Given the description of an element on the screen output the (x, y) to click on. 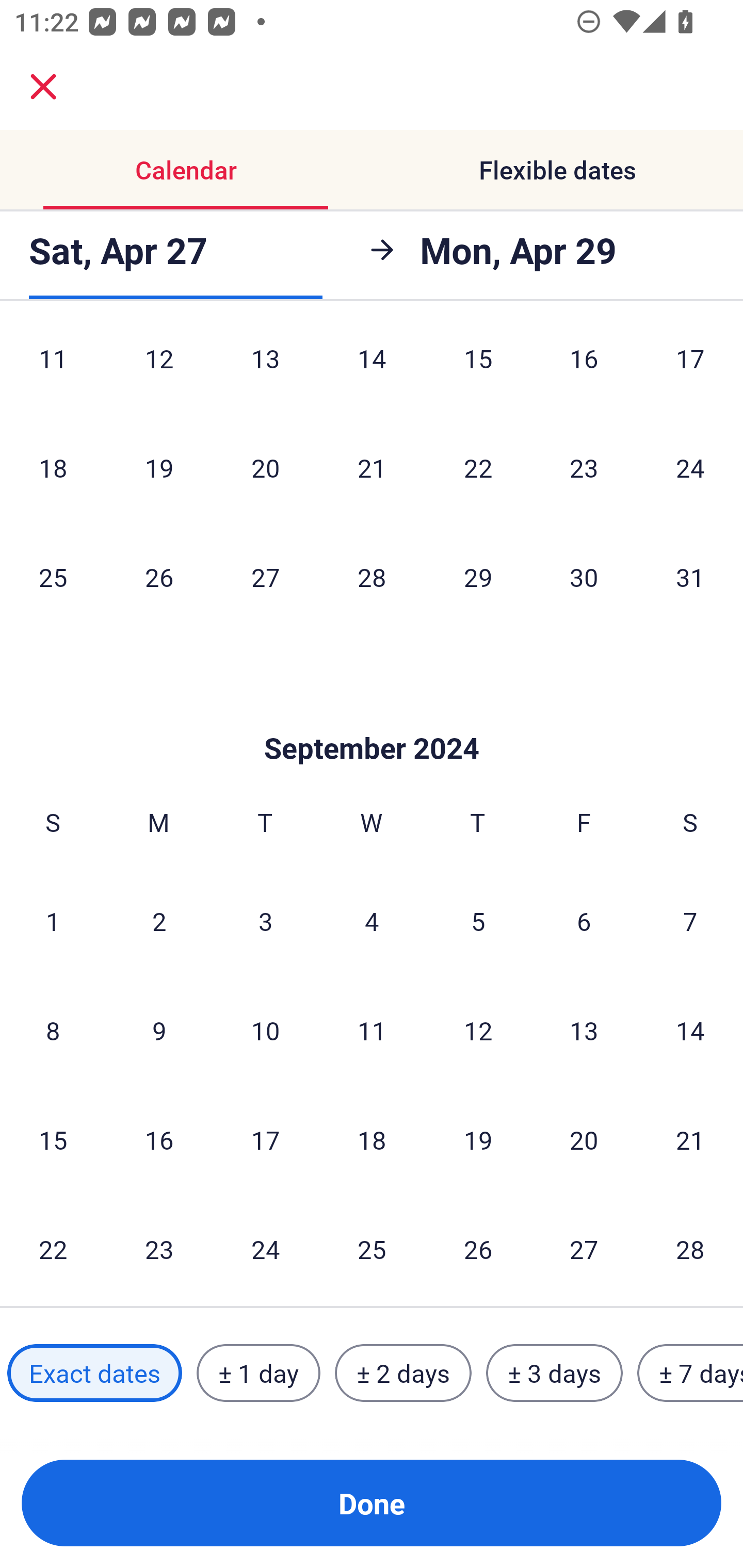
close. (43, 86)
Flexible dates (557, 170)
11 Sunday, August 11, 2024 (53, 370)
12 Monday, August 12, 2024 (159, 370)
13 Tuesday, August 13, 2024 (265, 370)
14 Wednesday, August 14, 2024 (371, 370)
15 Thursday, August 15, 2024 (477, 370)
16 Friday, August 16, 2024 (584, 370)
17 Saturday, August 17, 2024 (690, 370)
18 Sunday, August 18, 2024 (53, 466)
19 Monday, August 19, 2024 (159, 466)
20 Tuesday, August 20, 2024 (265, 466)
21 Wednesday, August 21, 2024 (371, 466)
22 Thursday, August 22, 2024 (477, 466)
23 Friday, August 23, 2024 (584, 466)
24 Saturday, August 24, 2024 (690, 466)
25 Sunday, August 25, 2024 (53, 576)
26 Monday, August 26, 2024 (159, 576)
27 Tuesday, August 27, 2024 (265, 576)
28 Wednesday, August 28, 2024 (371, 576)
29 Thursday, August 29, 2024 (477, 576)
30 Friday, August 30, 2024 (584, 576)
31 Saturday, August 31, 2024 (690, 576)
Skip to Done (371, 717)
1 Sunday, September 1, 2024 (53, 920)
2 Monday, September 2, 2024 (159, 920)
3 Tuesday, September 3, 2024 (265, 920)
4 Wednesday, September 4, 2024 (371, 920)
5 Thursday, September 5, 2024 (477, 920)
6 Friday, September 6, 2024 (584, 920)
7 Saturday, September 7, 2024 (690, 920)
8 Sunday, September 8, 2024 (53, 1029)
9 Monday, September 9, 2024 (159, 1029)
10 Tuesday, September 10, 2024 (265, 1029)
11 Wednesday, September 11, 2024 (371, 1029)
12 Thursday, September 12, 2024 (477, 1029)
13 Friday, September 13, 2024 (584, 1029)
14 Saturday, September 14, 2024 (690, 1029)
15 Sunday, September 15, 2024 (53, 1139)
16 Monday, September 16, 2024 (159, 1139)
17 Tuesday, September 17, 2024 (265, 1139)
18 Wednesday, September 18, 2024 (371, 1139)
19 Thursday, September 19, 2024 (477, 1139)
20 Friday, September 20, 2024 (584, 1139)
21 Saturday, September 21, 2024 (690, 1139)
22 Sunday, September 22, 2024 (53, 1248)
23 Monday, September 23, 2024 (159, 1248)
24 Tuesday, September 24, 2024 (265, 1248)
25 Wednesday, September 25, 2024 (371, 1248)
26 Thursday, September 26, 2024 (477, 1248)
27 Friday, September 27, 2024 (584, 1248)
28 Saturday, September 28, 2024 (690, 1248)
Exact dates (94, 1372)
± 1 day (258, 1372)
± 2 days (403, 1372)
± 3 days (553, 1372)
± 7 days (690, 1372)
Done (371, 1502)
